Given the description of an element on the screen output the (x, y) to click on. 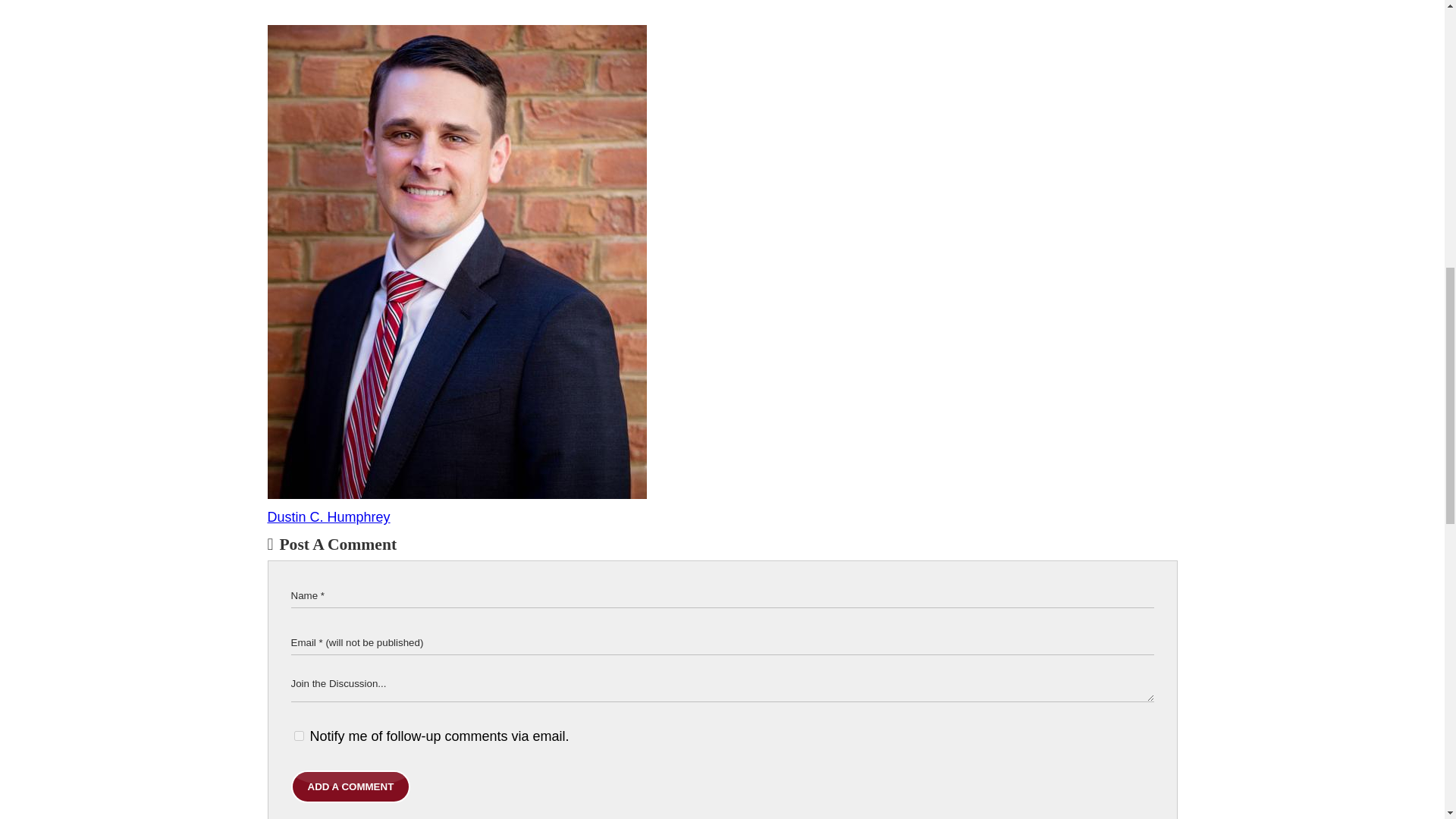
1 (299, 736)
